Given the description of an element on the screen output the (x, y) to click on. 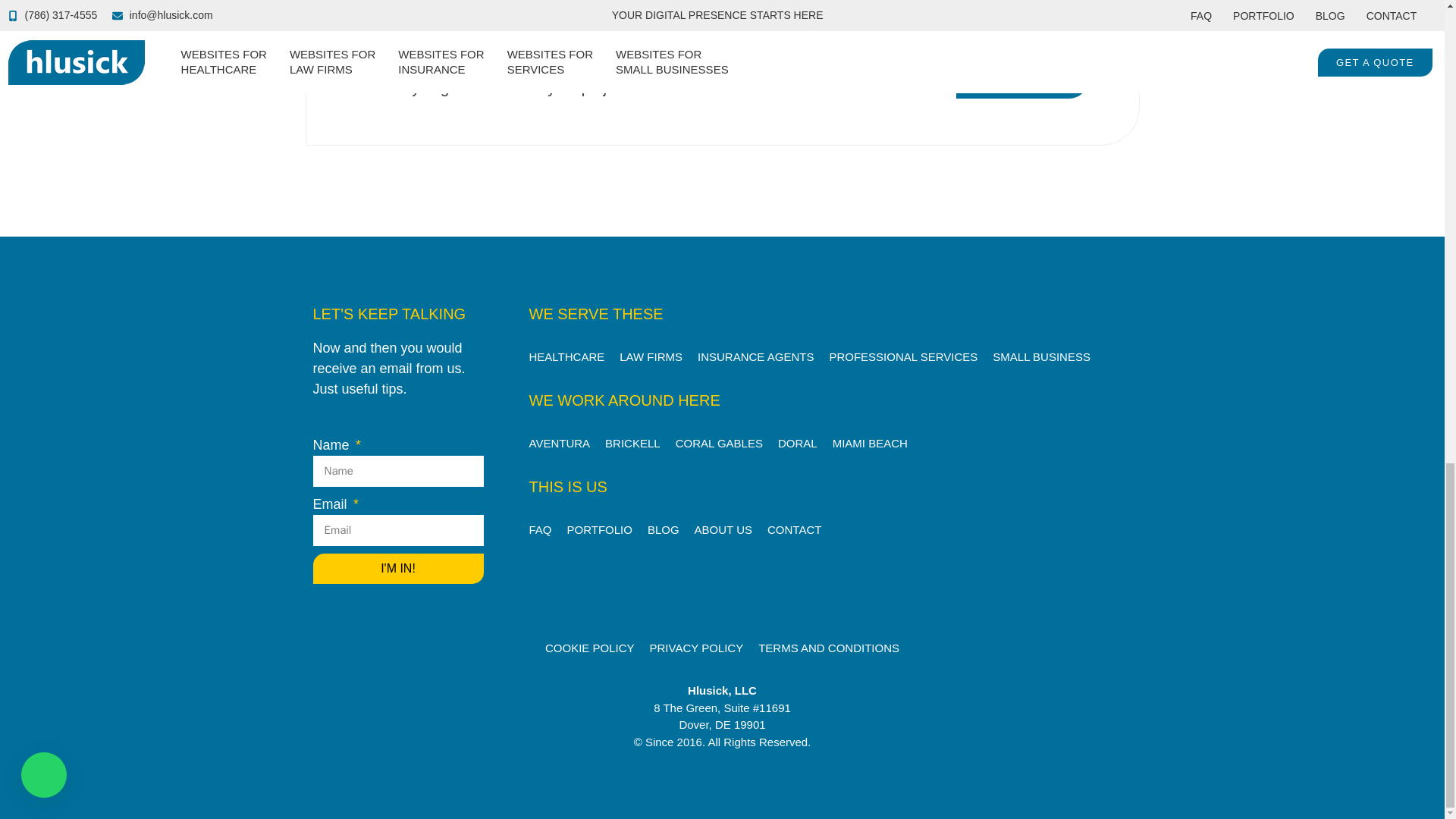
Scroll back to top (1406, 463)
